Given the description of an element on the screen output the (x, y) to click on. 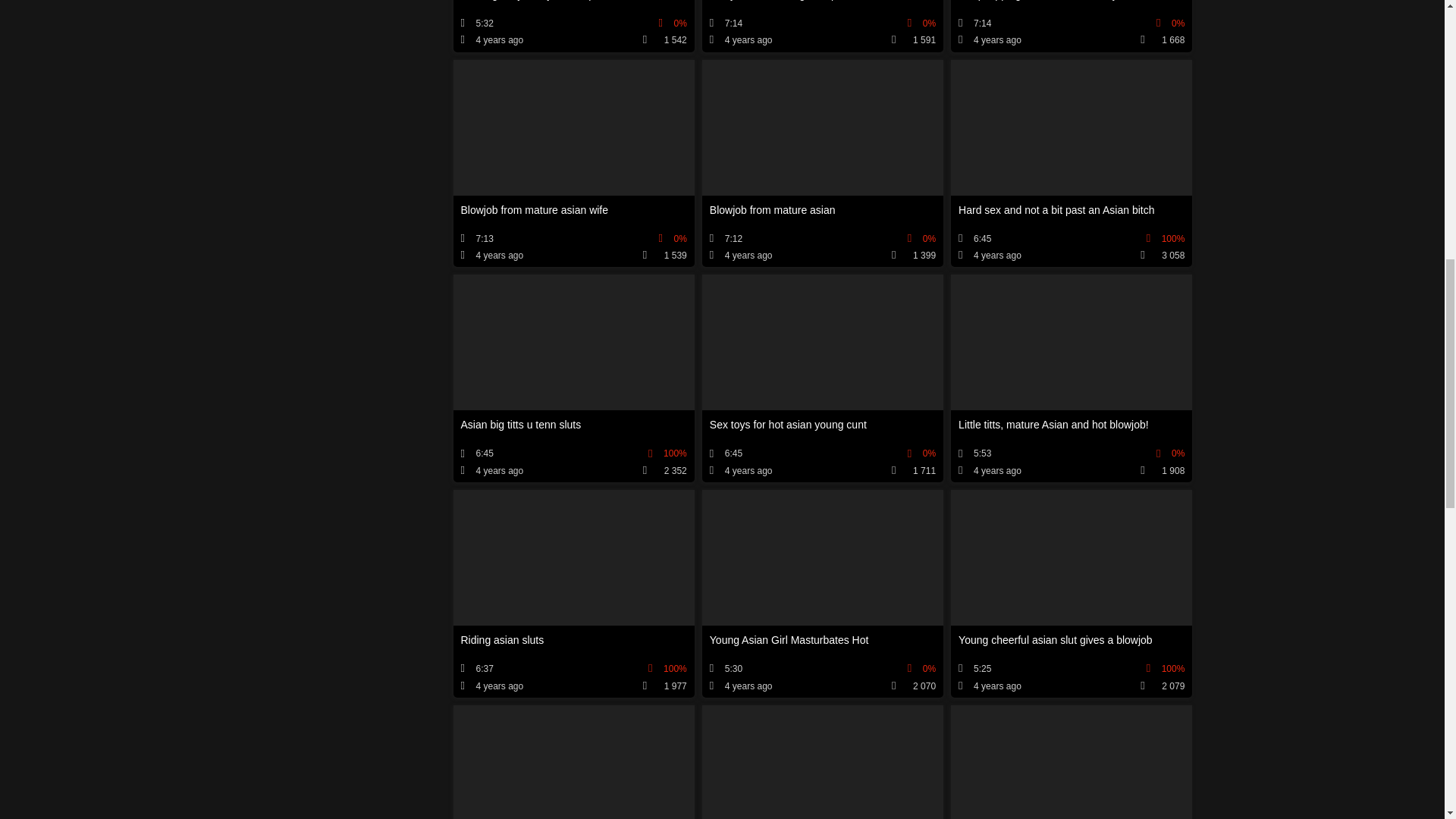
Asian big titts u tenn sluts (573, 378)
Riding asian sluts (573, 593)
Deep dipping in cute Asian's hairy cunt (1071, 26)
Young cheerful asian slut gives a blowjob (1071, 593)
Young Asian Girl Masturbates Hot (822, 593)
Fucking sexy blowjob from petite asian slut (573, 26)
Blowjob from mature asian wife (573, 163)
Kinky Asian whore gets a perfect fuck (822, 26)
Blowjob from mature asian (822, 163)
Hot masturbation in the shower of an Asian young beauty (573, 762)
